Given the description of an element on the screen output the (x, y) to click on. 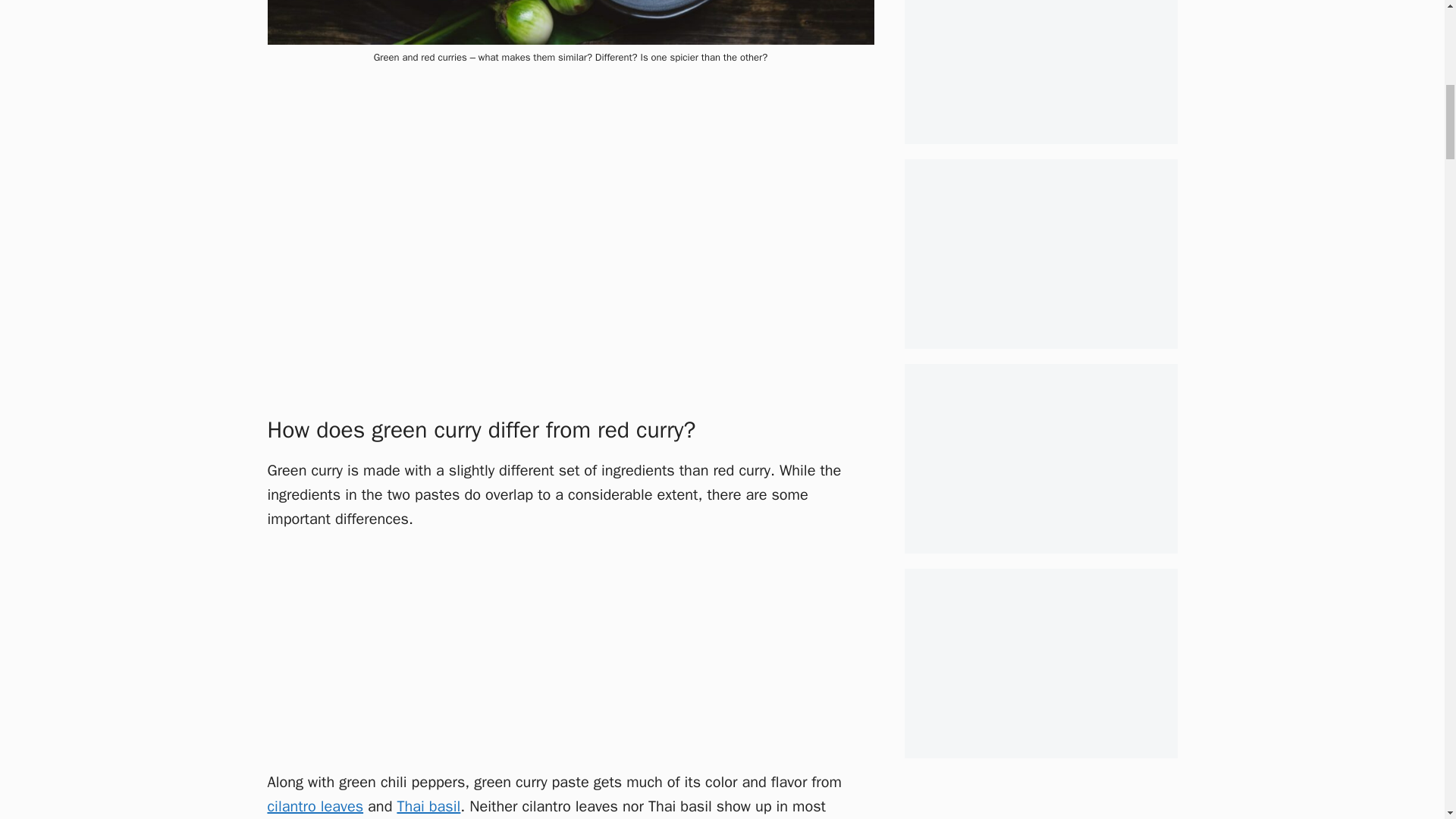
Thai basil (428, 805)
cilantro leaves (314, 805)
